Given the description of an element on the screen output the (x, y) to click on. 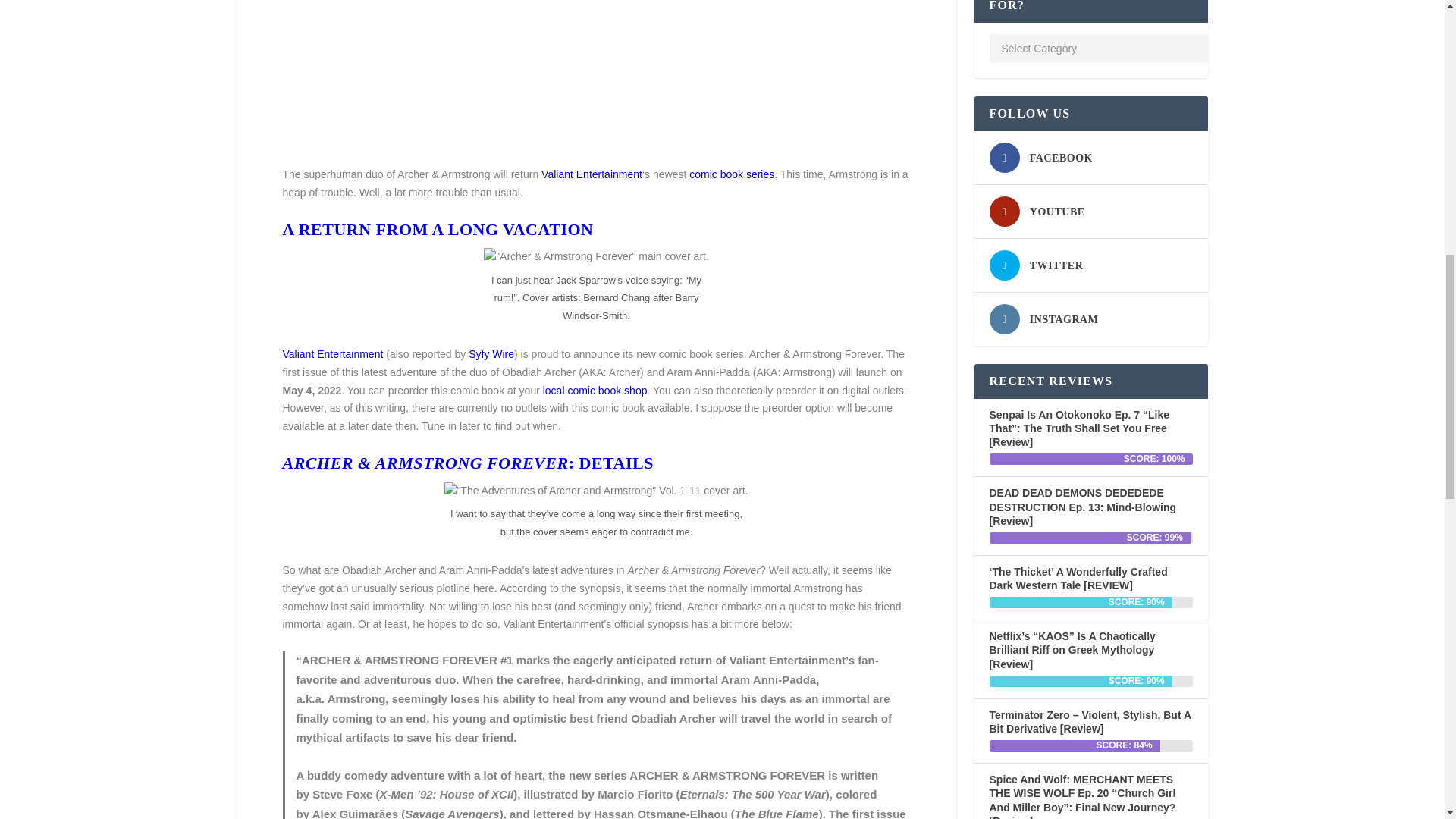
comic (702, 174)
local comic book shop (595, 390)
Syfy Wire (490, 354)
series (759, 174)
book (731, 174)
Valiant Entertainment (332, 354)
Valiant Entertainment (591, 174)
